Given the description of an element on the screen output the (x, y) to click on. 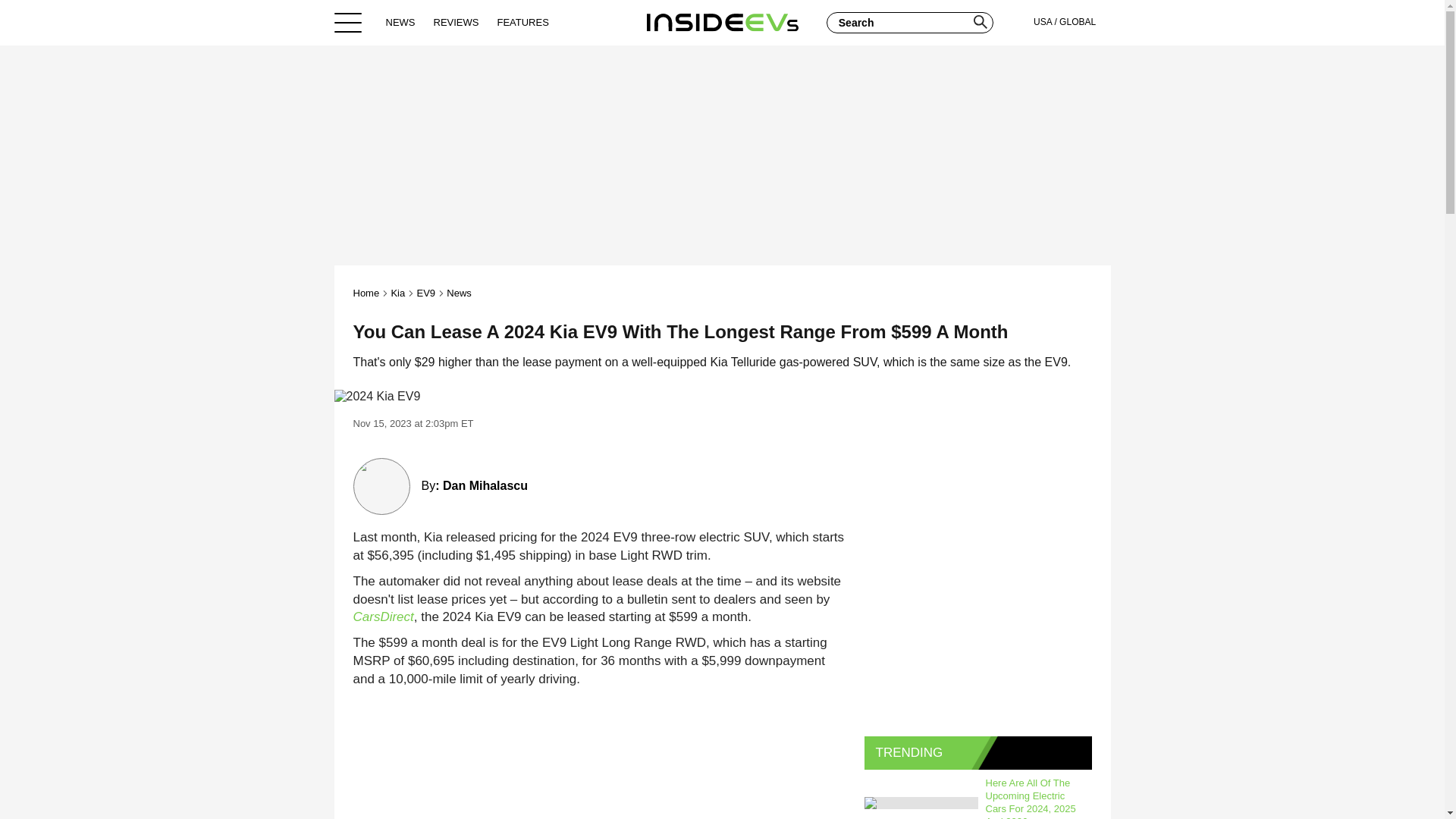
EV9 (425, 292)
FEATURES (522, 22)
News (458, 292)
Dan Mihalascu (484, 485)
CarsDirect (383, 616)
Home (366, 293)
Home (721, 22)
NEWS (399, 22)
Kia (397, 292)
REVIEWS (456, 22)
